Given the description of an element on the screen output the (x, y) to click on. 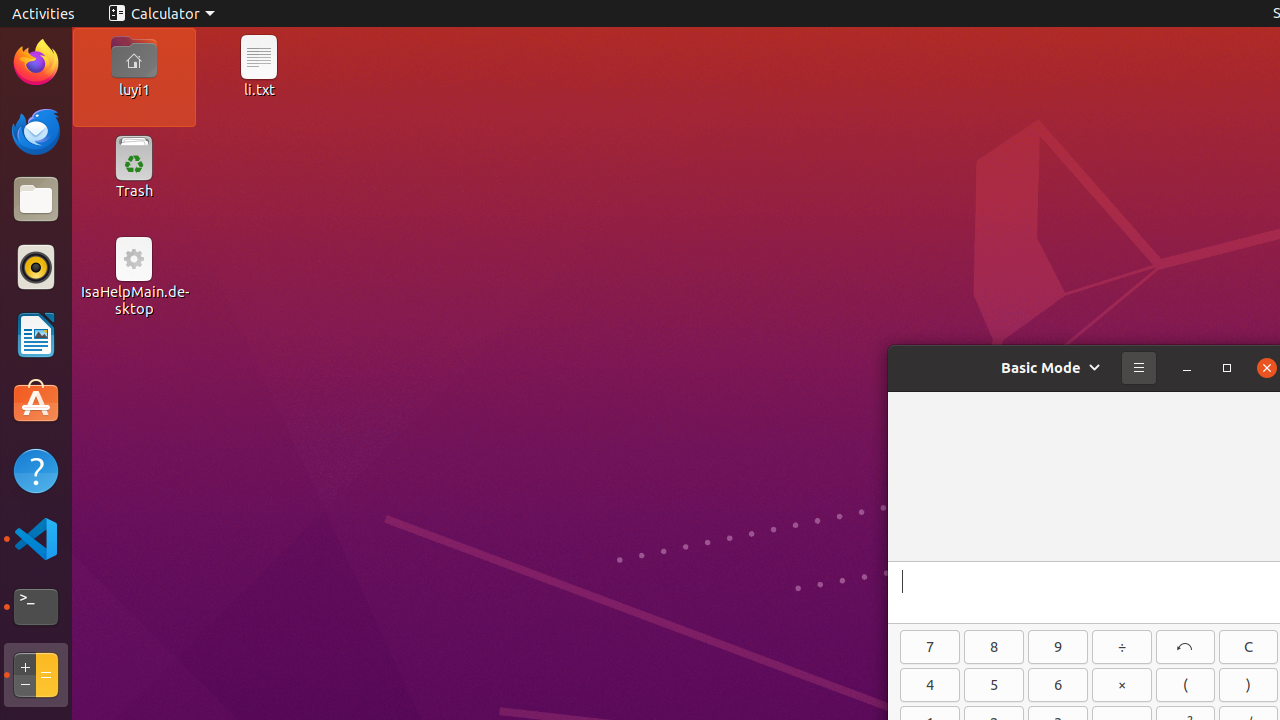
Maximize Element type: push-button (1227, 368)
5 Element type: push-button (994, 685)
4 Element type: push-button (930, 685)
Terminal Element type: push-button (36, 607)
li.txt Element type: label (259, 89)
